Given the description of an element on the screen output the (x, y) to click on. 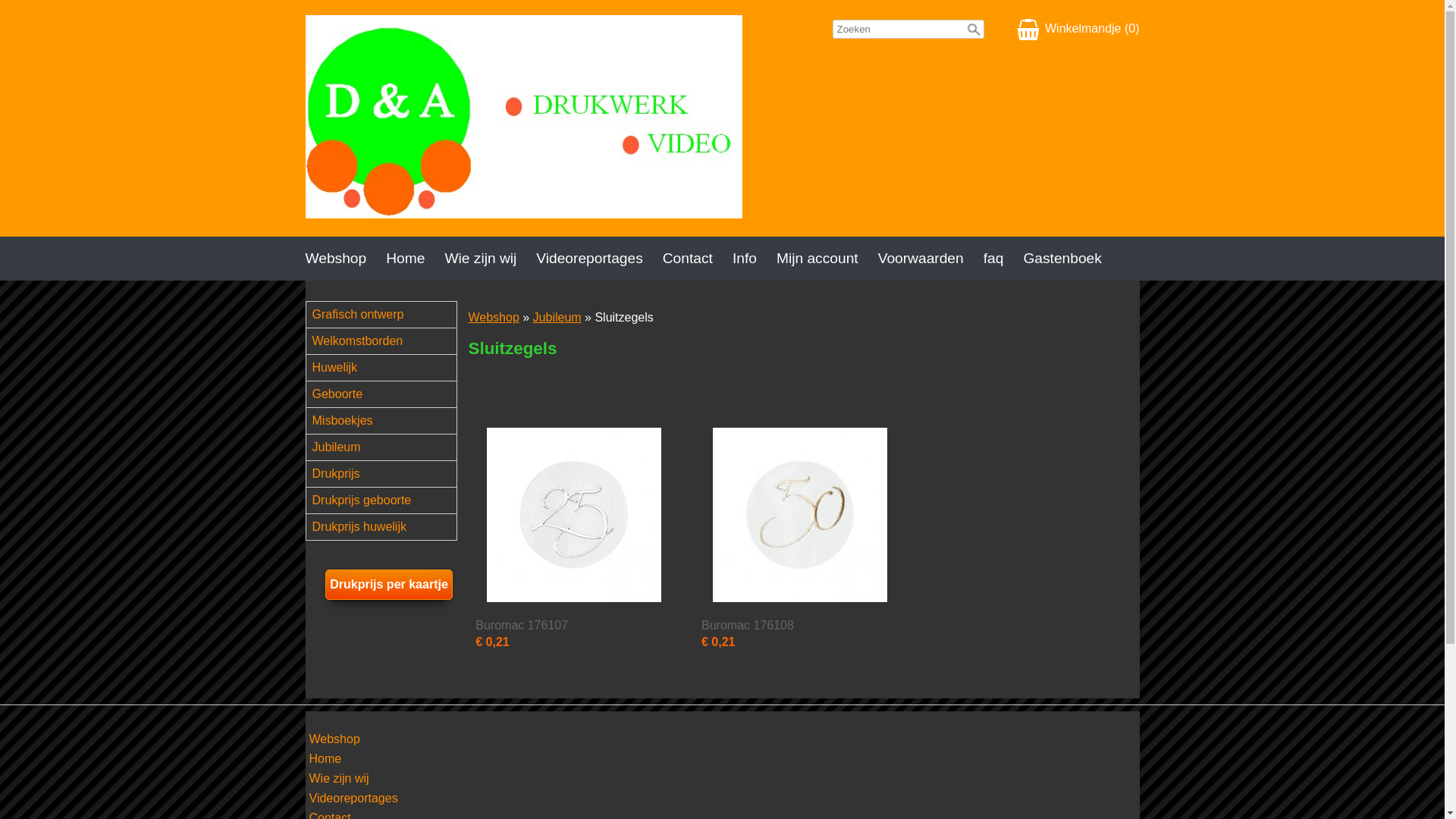
Webshop Element type: text (334, 739)
Drukprijs per kaartje Element type: text (388, 584)
Drukprijs geboorte Element type: text (387, 500)
Voorwaarden Element type: text (930, 258)
Drukprijs huwelijk Element type: text (387, 526)
Grafisch ontwerp Element type: text (387, 314)
Webshop Element type: text (344, 258)
Videoreportages Element type: text (353, 799)
Home Element type: text (325, 759)
Welkomstborden Element type: text (387, 341)
Jubileum Element type: text (557, 316)
Geboorte Element type: text (387, 394)
Home Element type: text (414, 258)
Videoreportages Element type: text (599, 258)
Drukprijs Element type: text (387, 473)
Info Element type: text (754, 258)
Contact Element type: text (697, 258)
Mijn account Element type: text (827, 258)
Misboekjes Element type: text (387, 420)
Gastenboek Element type: text (1071, 258)
WinkelmandjeWinkelmandje (0) Element type: text (1078, 29)
Jubileum Element type: text (387, 447)
Wie zijn wij Element type: text (490, 258)
Webshop Element type: text (493, 316)
Huwelijk Element type: text (387, 367)
faq Element type: text (1003, 258)
Wie zijn wij Element type: text (339, 779)
